Given the description of an element on the screen output the (x, y) to click on. 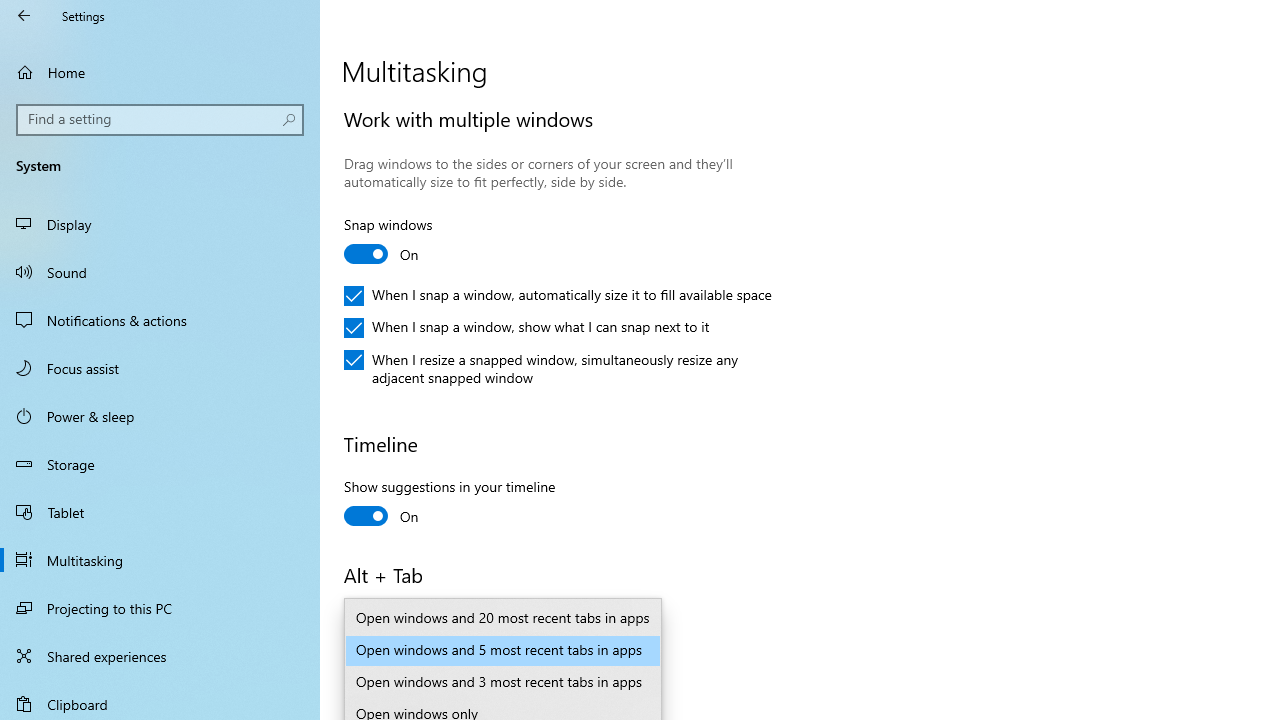
Back (24, 15)
Open windows and 3 most recent tabs in apps (502, 682)
Home (160, 71)
Notifications & actions (160, 319)
Pressing Alt + Tab shows (484, 650)
When I snap a window, show what I can snap next to it (527, 327)
